Given the description of an element on the screen output the (x, y) to click on. 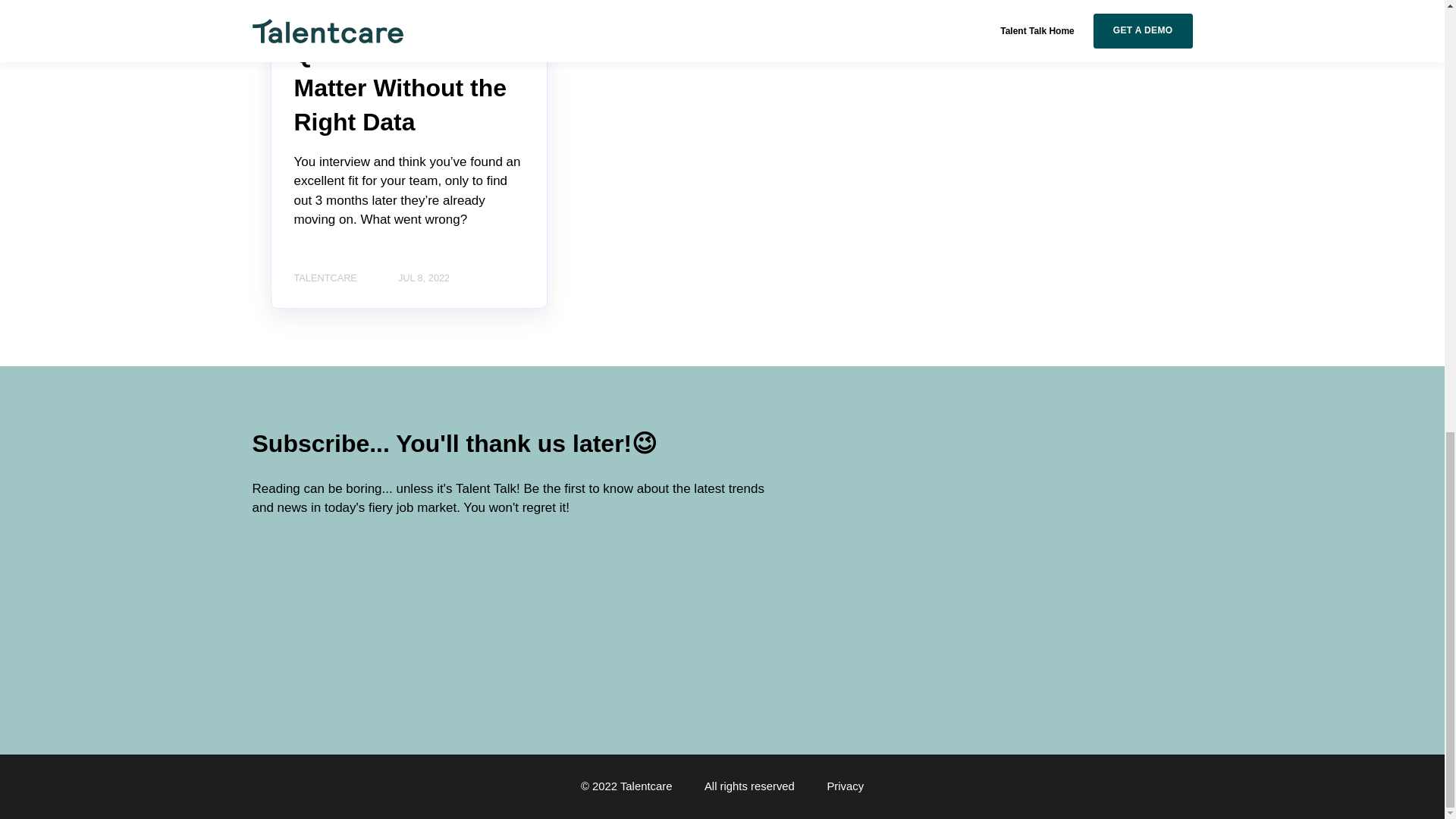
Interview Questions Don't Matter Without the Right Data (400, 70)
Privacy (845, 786)
Form 0 (371, 614)
